Given the description of an element on the screen output the (x, y) to click on. 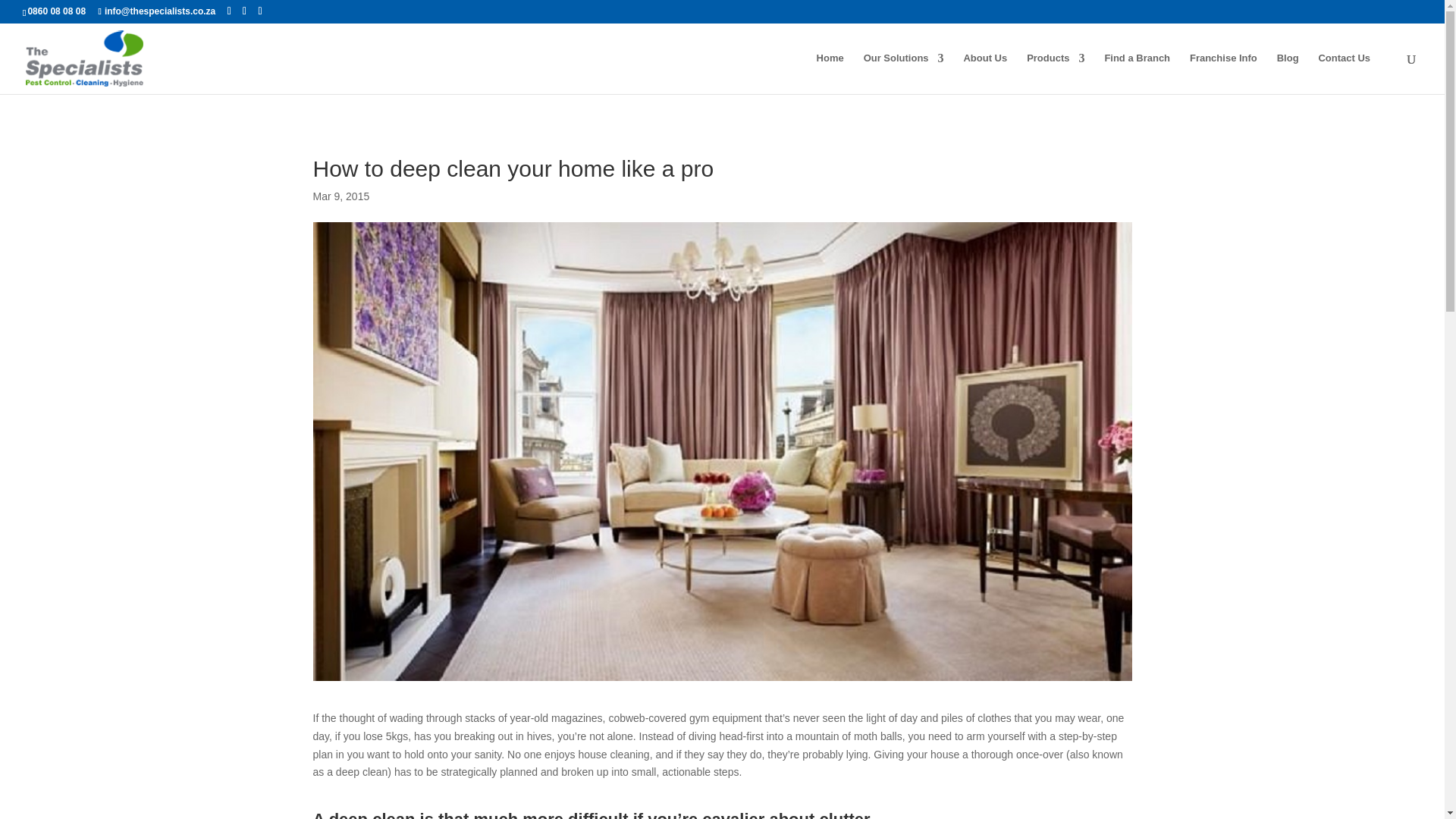
About Us (984, 73)
Franchise Info (1223, 73)
Our Solutions (903, 73)
Find a Branch (1136, 73)
Contact Us (1343, 73)
Products (1055, 73)
